Given the description of an element on the screen output the (x, y) to click on. 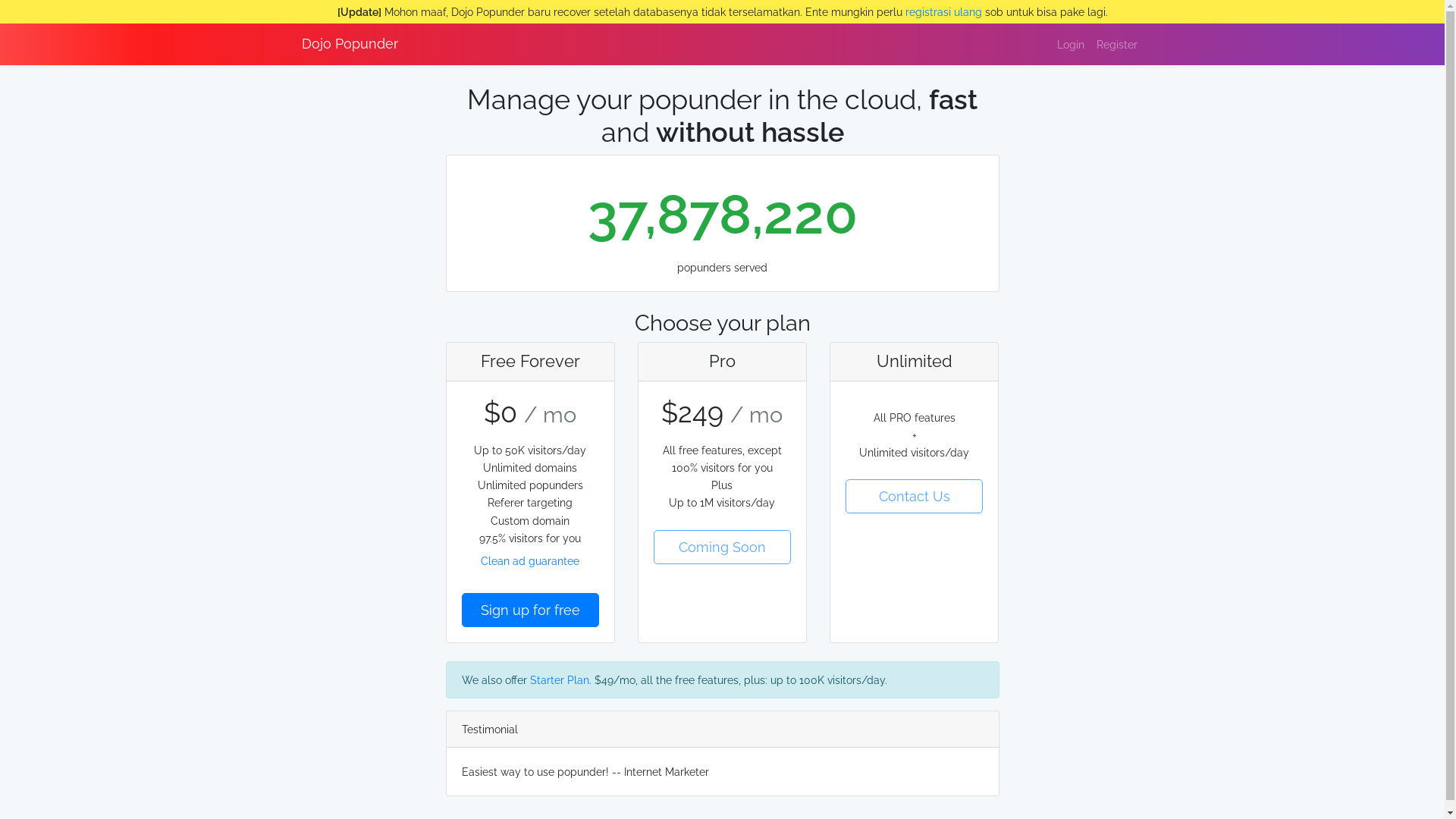
Starter Plan Element type: text (558, 679)
Coming Soon Element type: text (721, 547)
Contact Us Element type: text (913, 496)
registrasi ulang Element type: text (943, 11)
Login Element type: text (1070, 44)
Dojo Popunder Element type: text (349, 44)
Clean ad guarantee Element type: text (529, 560)
Register Element type: text (1116, 44)
Sign up for free Element type: text (529, 610)
